Given the description of an element on the screen output the (x, y) to click on. 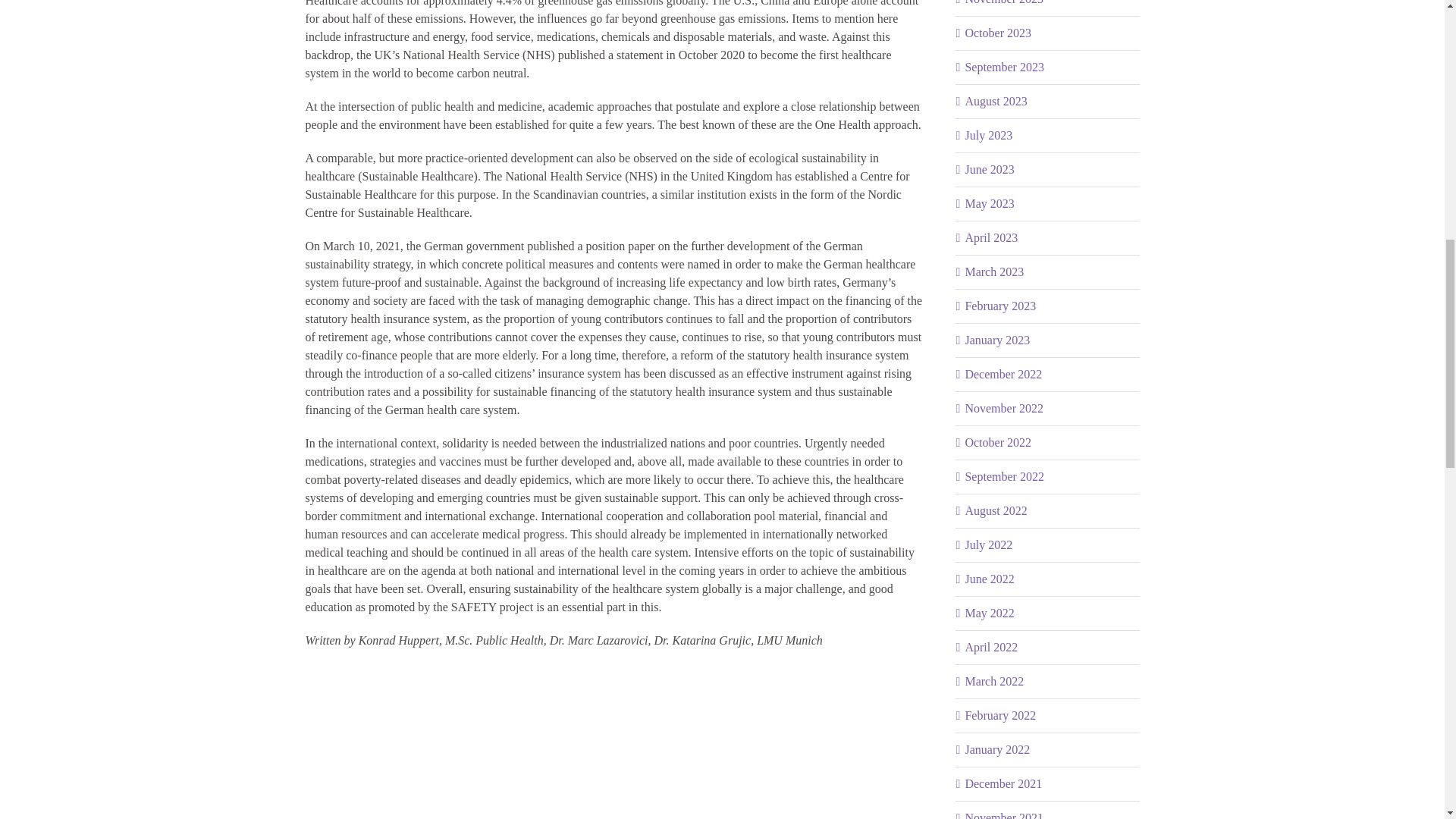
November 2023 (1003, 2)
